Given the description of an element on the screen output the (x, y) to click on. 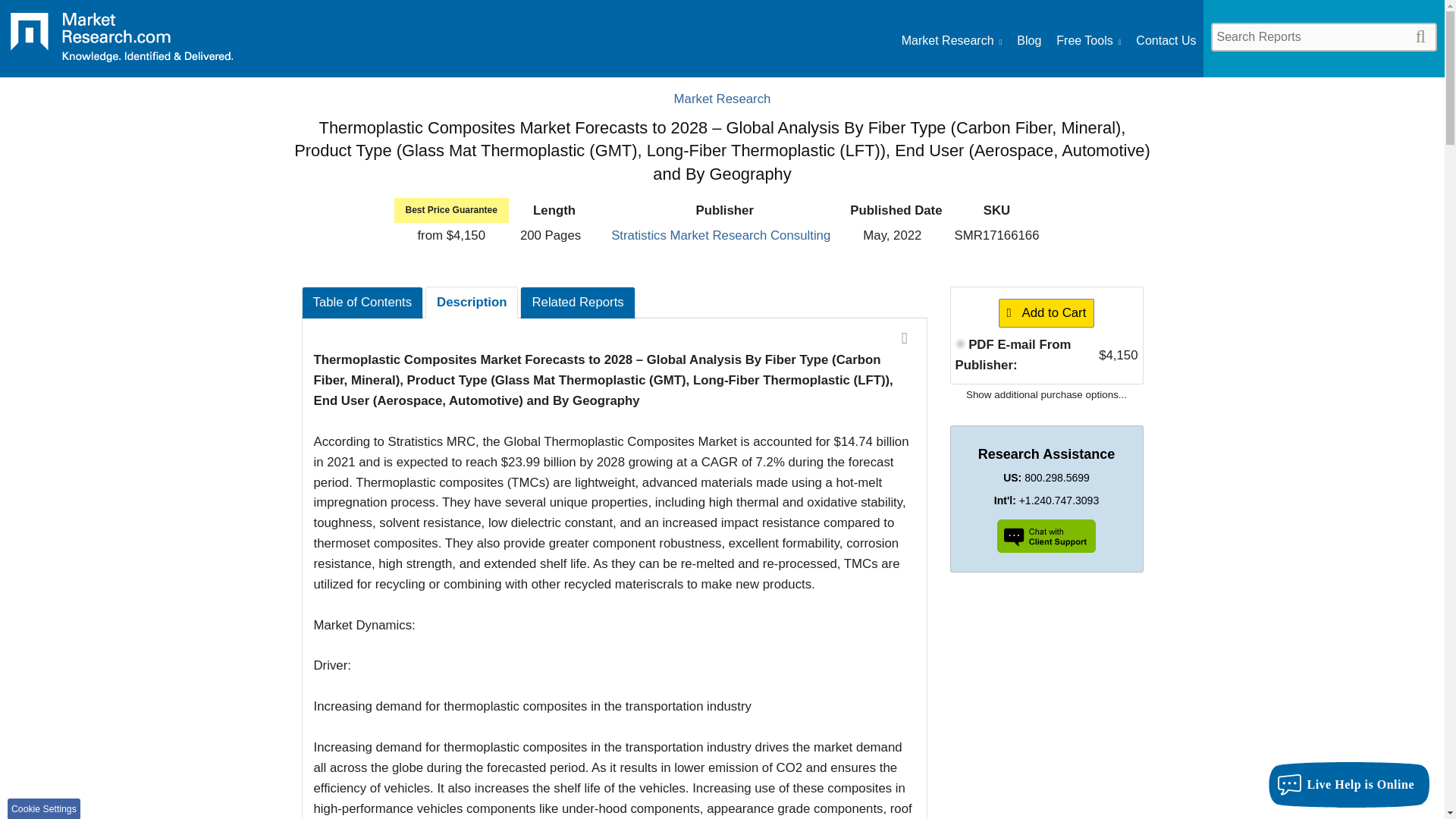
Market Research (121, 42)
Table of Contents (362, 302)
Market Research (951, 40)
Search for specific text within reports (1323, 36)
Browse Market Research Industries (951, 40)
Show additional purchase options... (1046, 394)
Learn more about market research with these free tools (1089, 40)
Description (471, 302)
Stratistics Market Research Consulting (720, 235)
Free Tools (1089, 40)
Related Reports (576, 302)
Market Research (722, 98)
Contact Us (1165, 40)
Get in touch with MarketResearch.com (1165, 40)
Add to Cart (1046, 313)
